Given the description of an element on the screen output the (x, y) to click on. 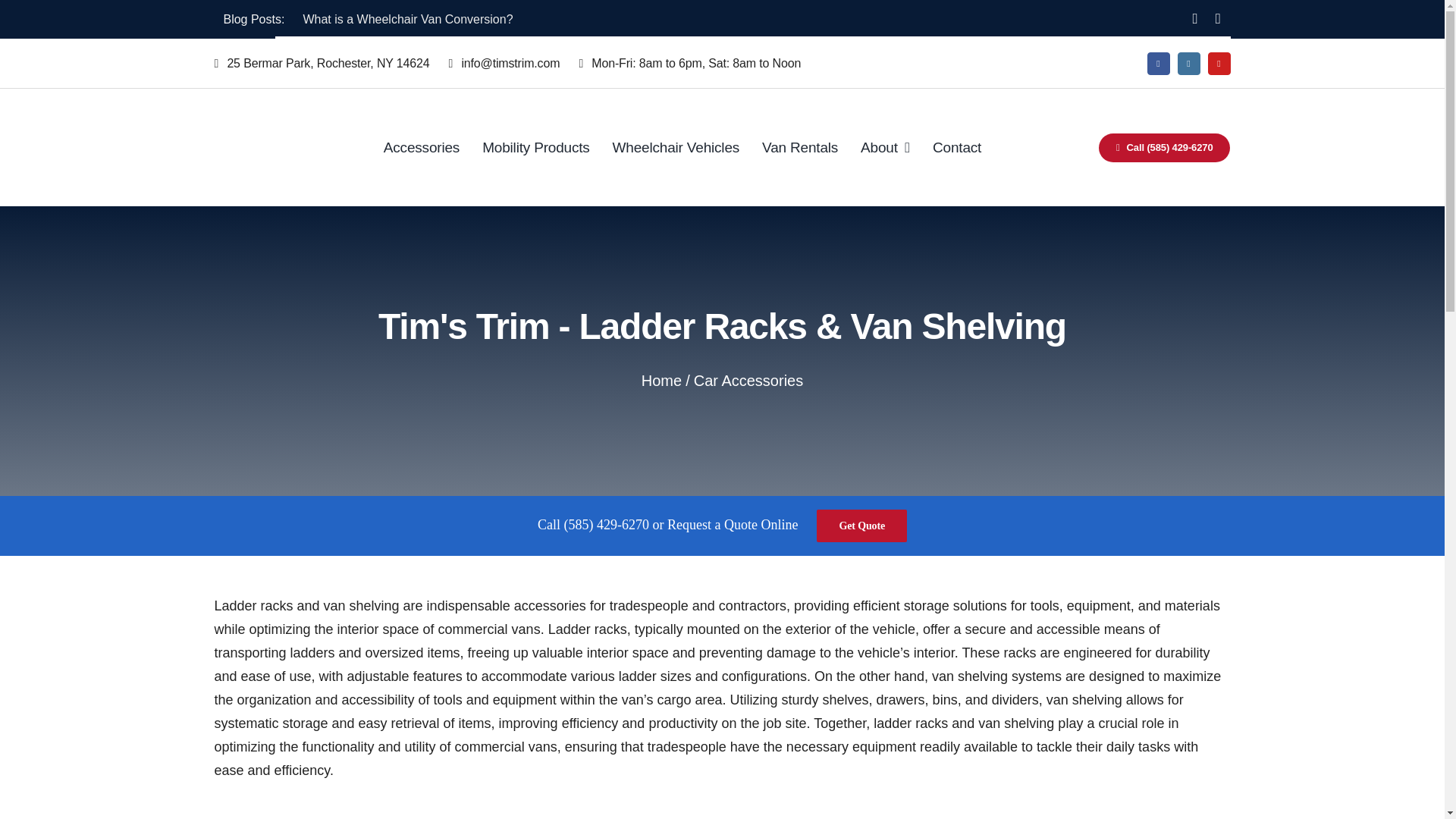
Mobility Products (535, 147)
25 Bermar Park, Rochester, NY 14624 (331, 63)
Accessories (422, 147)
Contact (957, 147)
YouTube (1218, 63)
Mon-Fri: 8am to 6pm, Sat: 8am to Noon (698, 63)
Facebook (1158, 63)
Van Rentals (799, 147)
Instagram (1187, 63)
About (885, 147)
What is a Wheelchair Van Conversion? (407, 19)
Wheelchair Vehicles (675, 147)
